Given the description of an element on the screen output the (x, y) to click on. 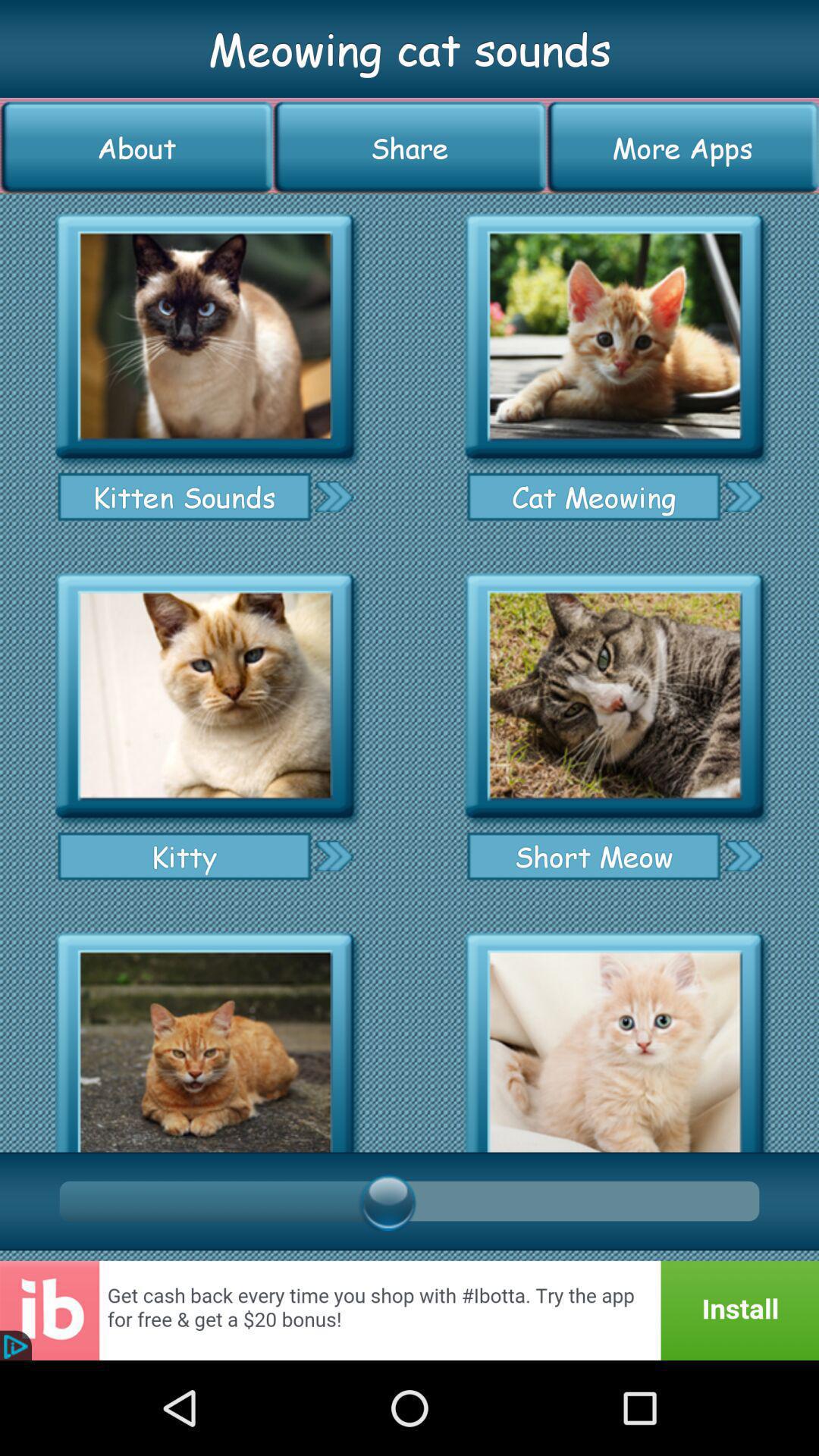
launch the button to the left of the more apps icon (409, 147)
